Given the description of an element on the screen output the (x, y) to click on. 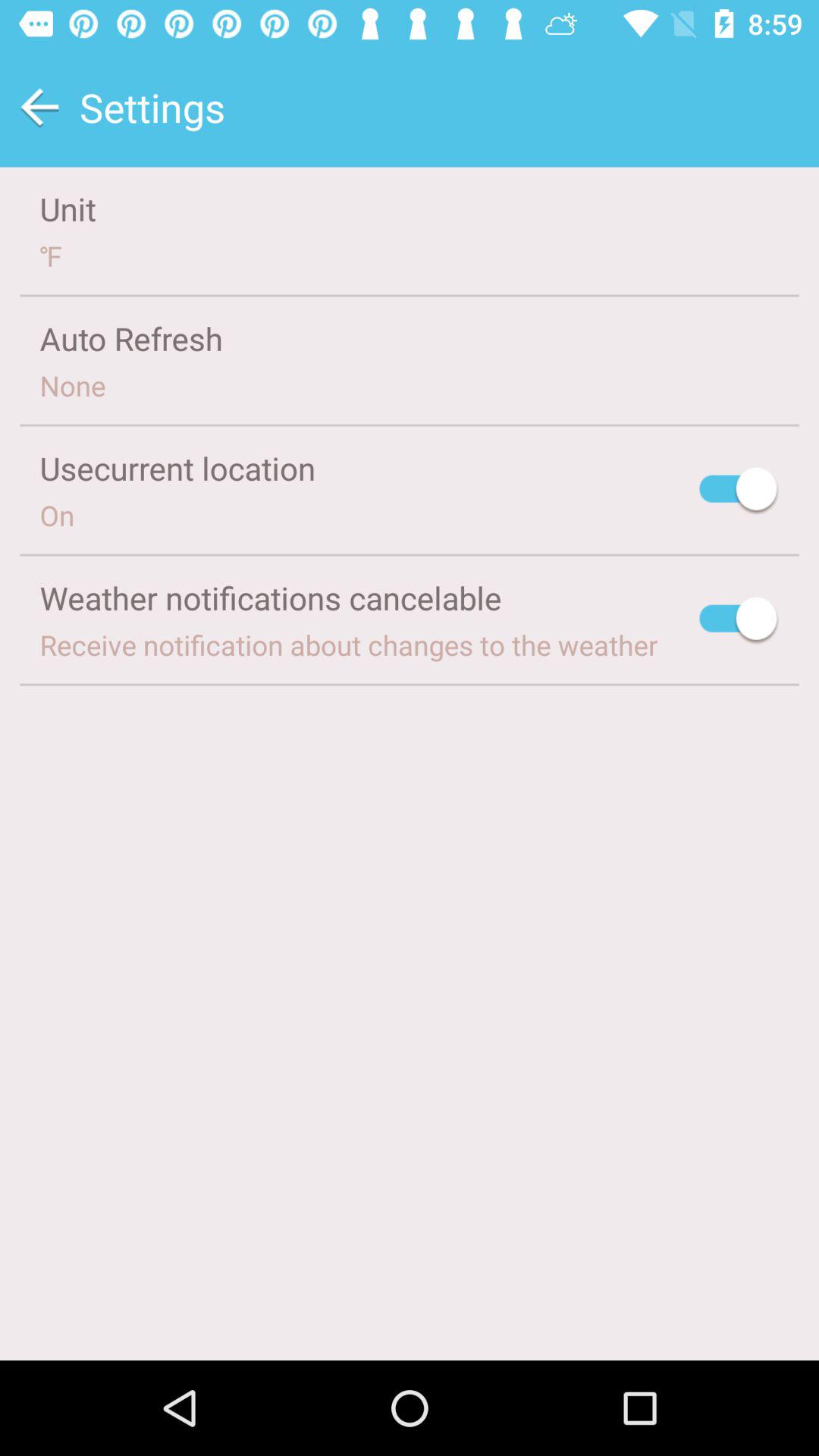
go back (39, 107)
